Given the description of an element on the screen output the (x, y) to click on. 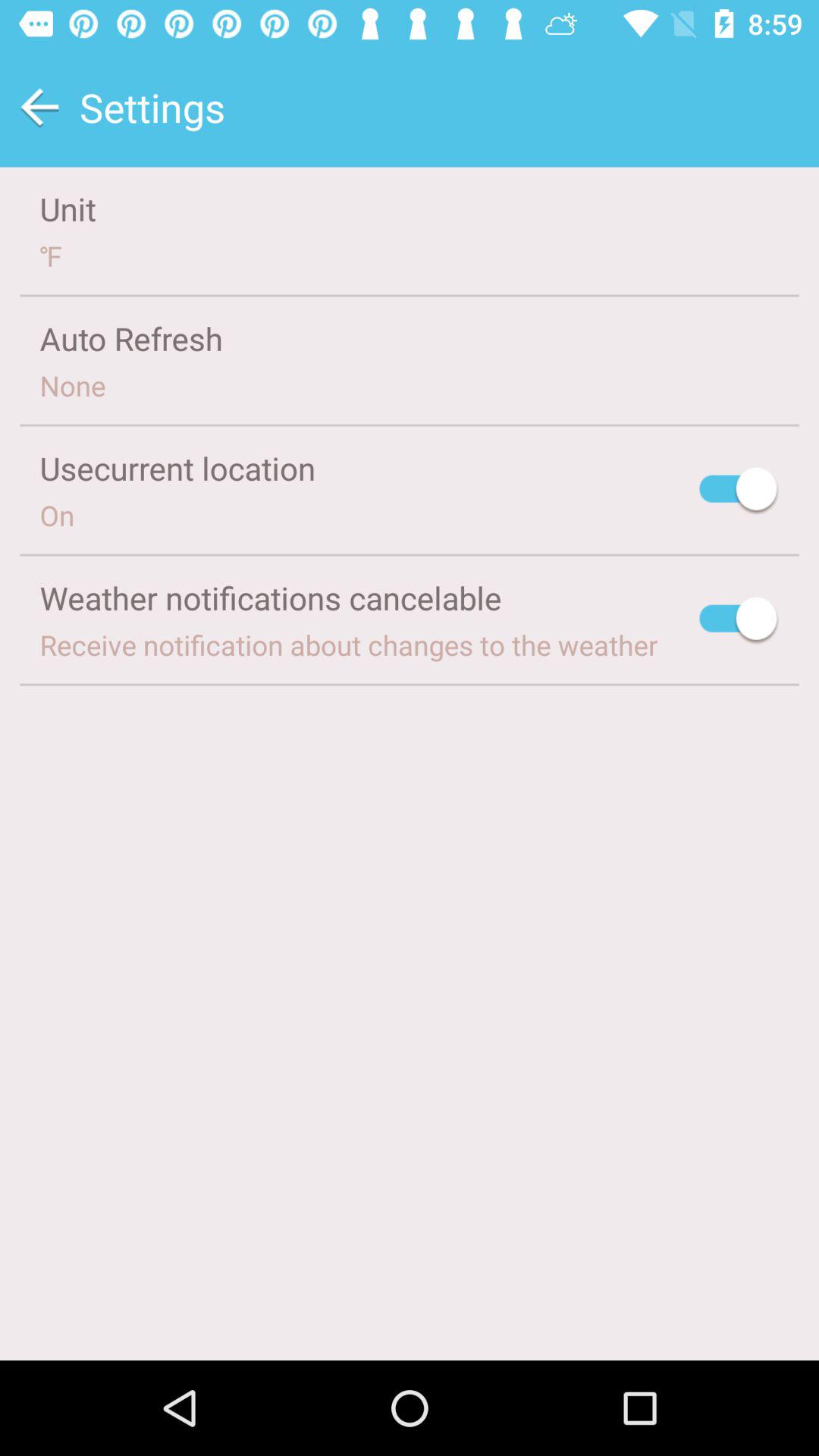
go back (39, 107)
